Given the description of an element on the screen output the (x, y) to click on. 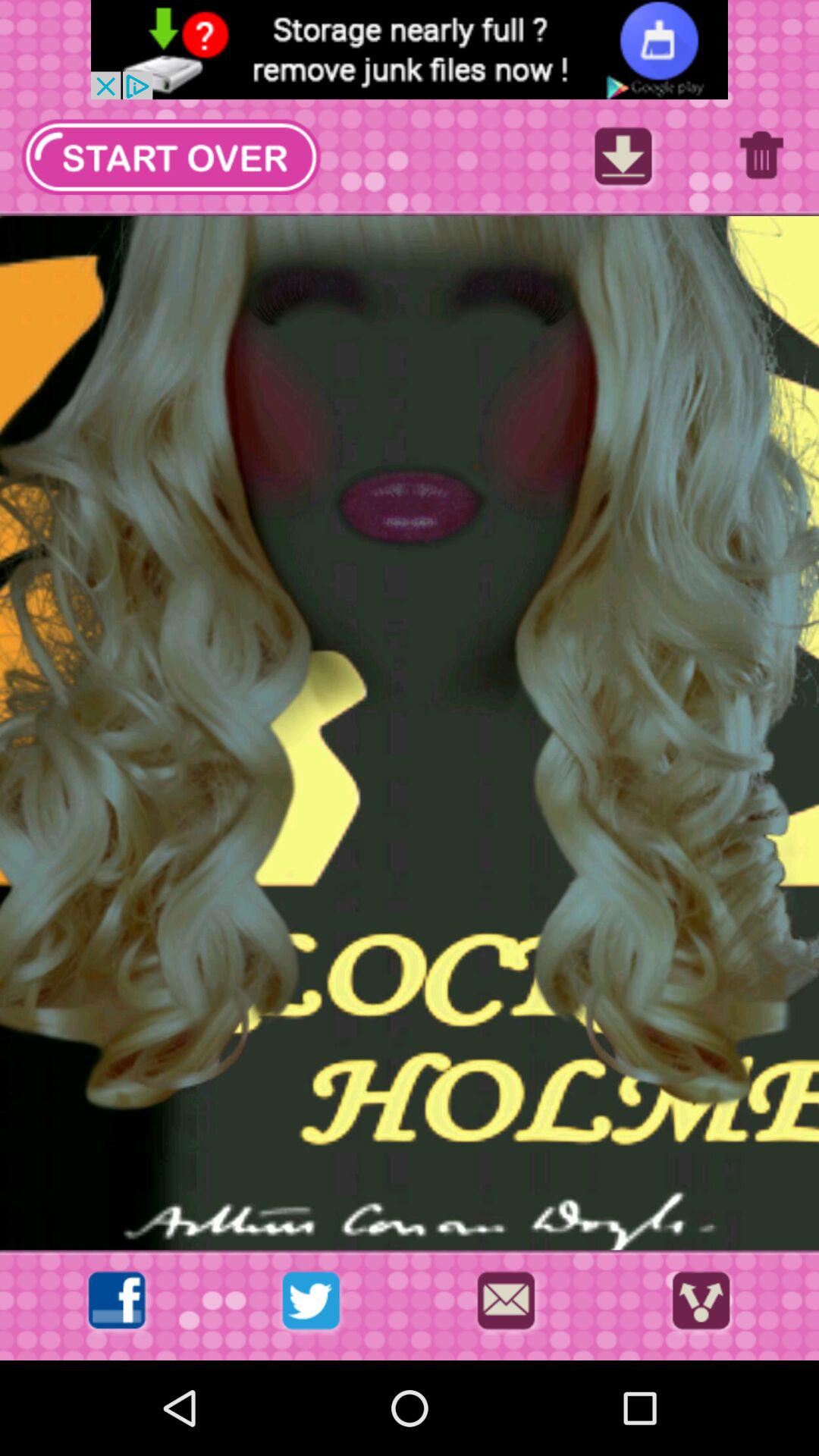
open facebook (116, 1305)
